Given the description of an element on the screen output the (x, y) to click on. 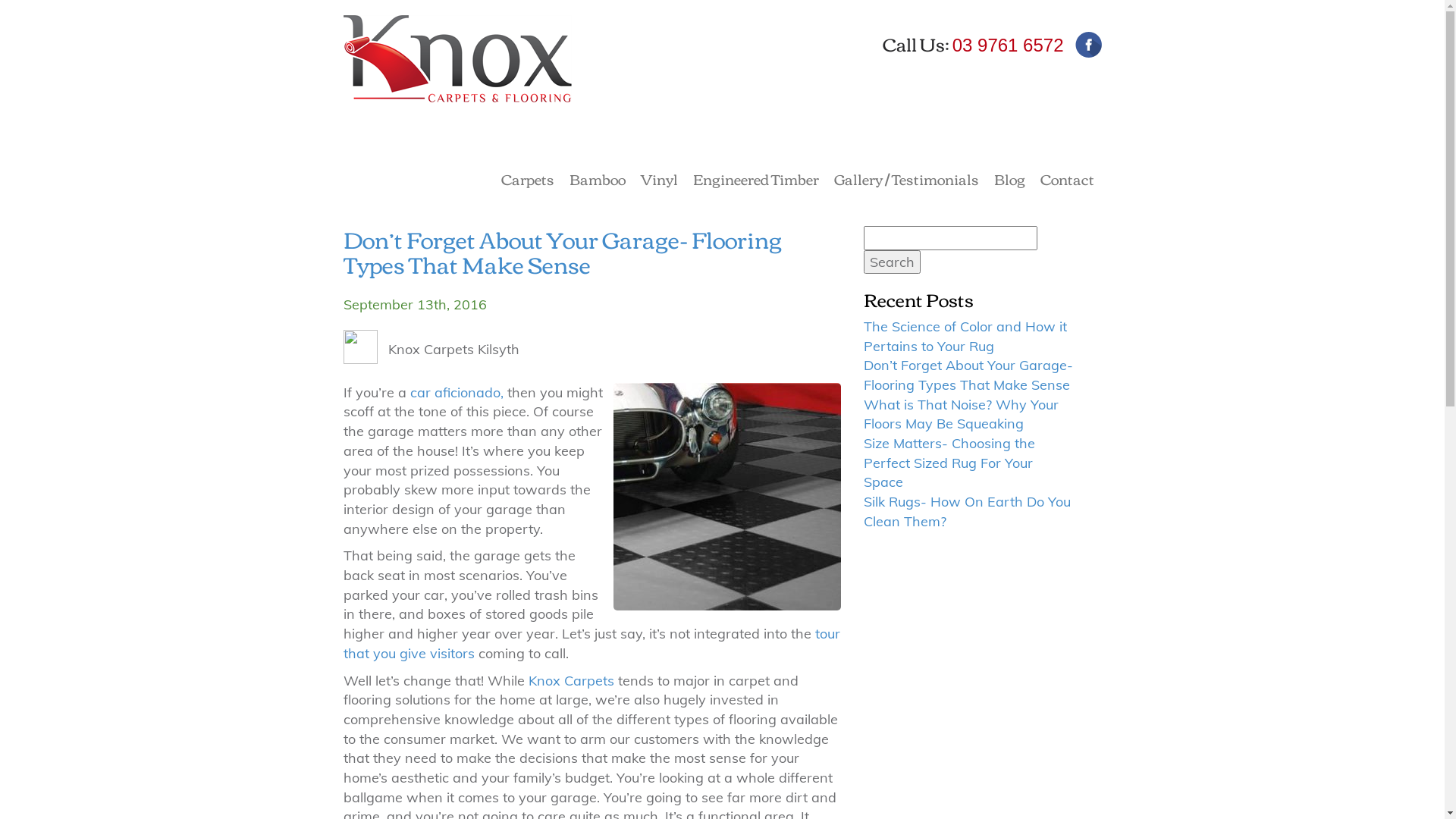
Knox Carpets Element type: text (570, 680)
car aficionado, Element type: text (455, 392)
Bamboo Element type: text (596, 180)
Size Matters- Choosing the Perfect Sized Rug For Your Space Element type: text (949, 462)
Facebook Element type: text (1088, 44)
Gallery / Testimonials Element type: text (906, 180)
Vinyl Element type: text (658, 180)
The Science of Color and How it Pertains to Your Rug Element type: text (964, 335)
Blog Element type: text (1008, 180)
tour that you give visitors Element type: text (590, 643)
What is That Noise? Why Your Floors May Be Squeaking Element type: text (960, 414)
Engineered Timber Element type: text (755, 180)
Silk Rugs- How On Earth Do You Clean Them? Element type: text (966, 511)
Carpets Element type: text (526, 180)
03 9761 6572 Element type: text (1007, 44)
Search Element type: text (891, 262)
Contact Element type: text (1066, 180)
